Given the description of an element on the screen output the (x, y) to click on. 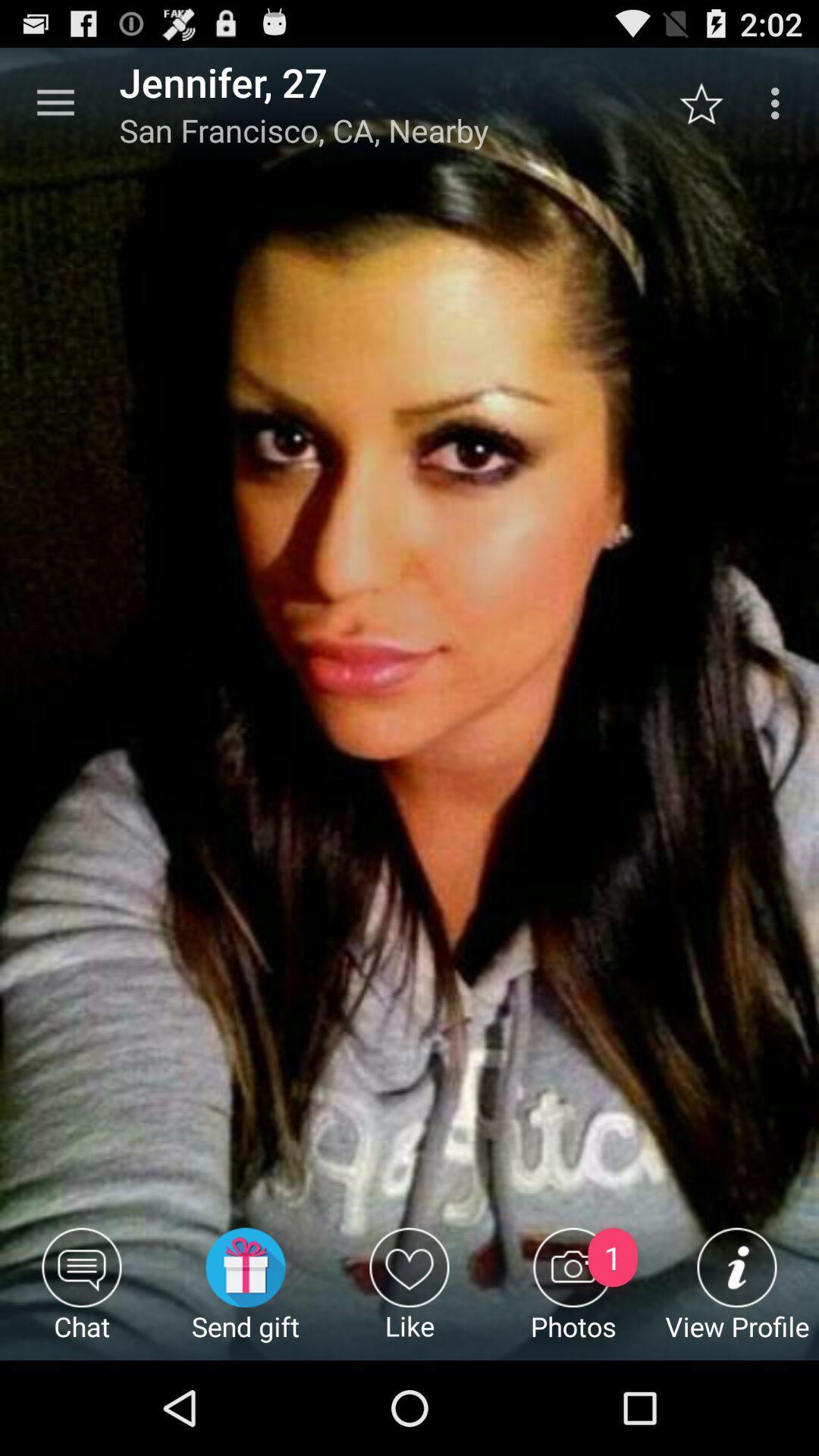
open icon to the left of send gift item (81, 1293)
